Given the description of an element on the screen output the (x, y) to click on. 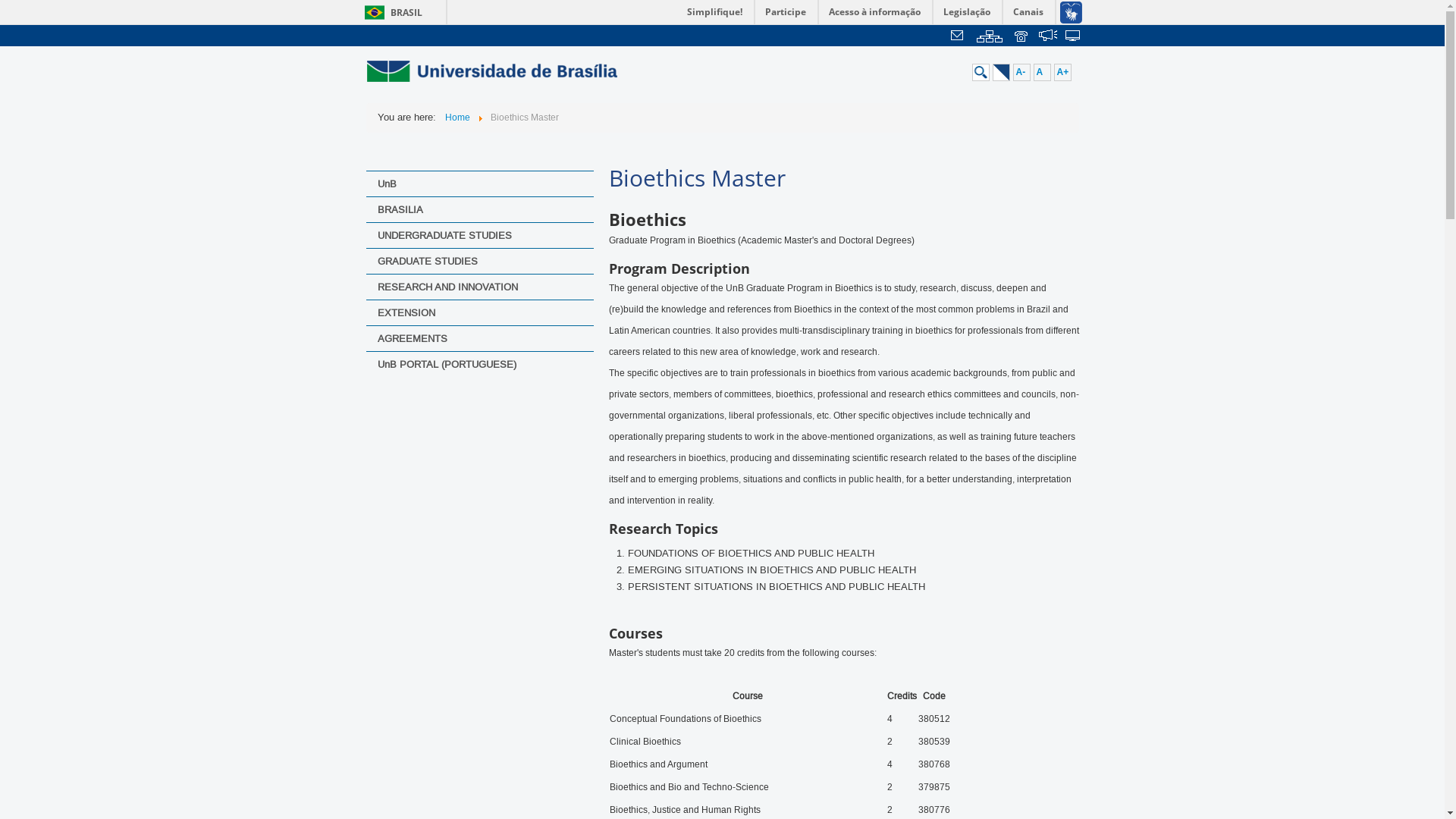
UnB Element type: text (479, 183)
AGREEMENTS Element type: text (479, 338)
  Element type: text (1073, 37)
Fala.BR Element type: hover (1047, 37)
RESEARCH AND INNOVATION Element type: text (479, 286)
Webmail Element type: hover (958, 37)
  Element type: text (1022, 37)
  Element type: text (958, 37)
EXTENSION Element type: text (479, 312)
BRASILIA Element type: text (479, 209)
Sistemas Element type: hover (1073, 37)
A- Element type: text (1021, 72)
A+ Element type: text (1062, 72)
Home Element type: text (456, 117)
  Element type: text (1047, 37)
Telefones da UnB Element type: hover (1022, 37)
  Element type: text (989, 37)
BRASIL Element type: text (389, 12)
UnB PORTAL (PORTUGUESE) Element type: text (479, 364)
A Element type: text (1041, 72)
GRADUATE STUDIES Element type: text (479, 260)
Mapa do Site Element type: hover (989, 37)
UNDERGRADUATE STUDIES Element type: text (479, 235)
